Given the description of an element on the screen output the (x, y) to click on. 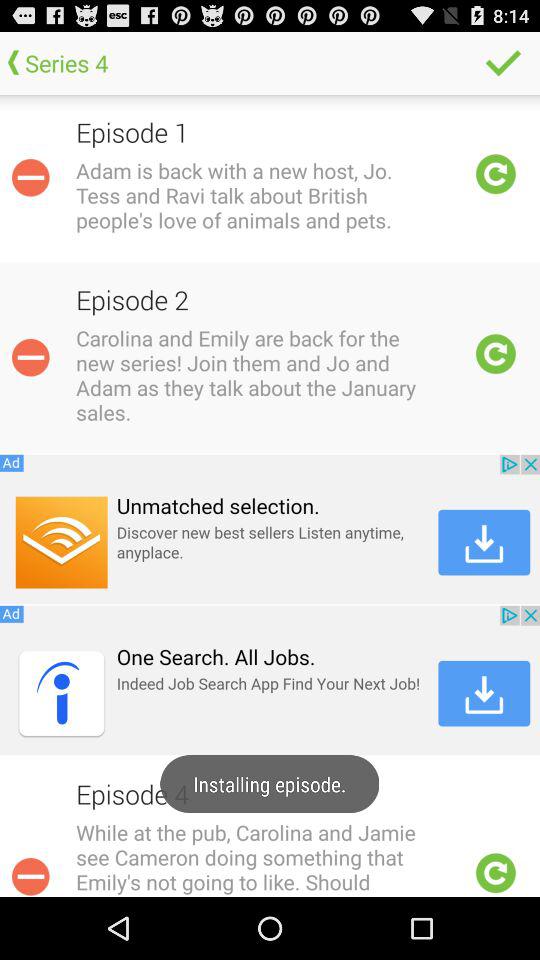
view indeed advertisement (270, 680)
